Given the description of an element on the screen output the (x, y) to click on. 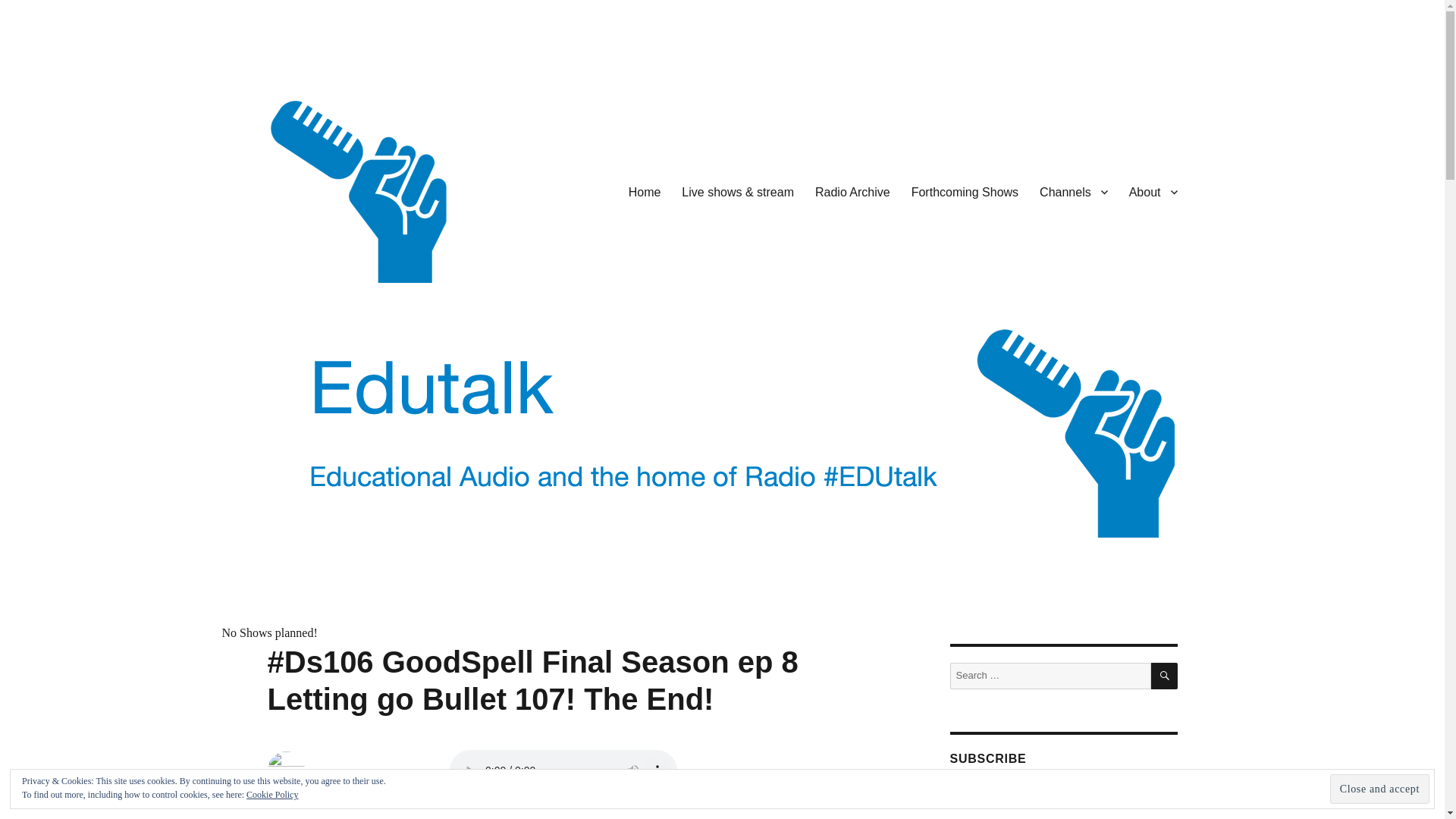
Channels (1073, 192)
Home (644, 192)
31 October, 2016 (304, 817)
John Johnston (298, 800)
Close and accept (1379, 788)
About (1153, 192)
Forthcoming Shows (965, 192)
106 Bullets Episode 107 (507, 807)
Radio Archive (853, 192)
EDUtalk (306, 306)
